Given the description of an element on the screen output the (x, y) to click on. 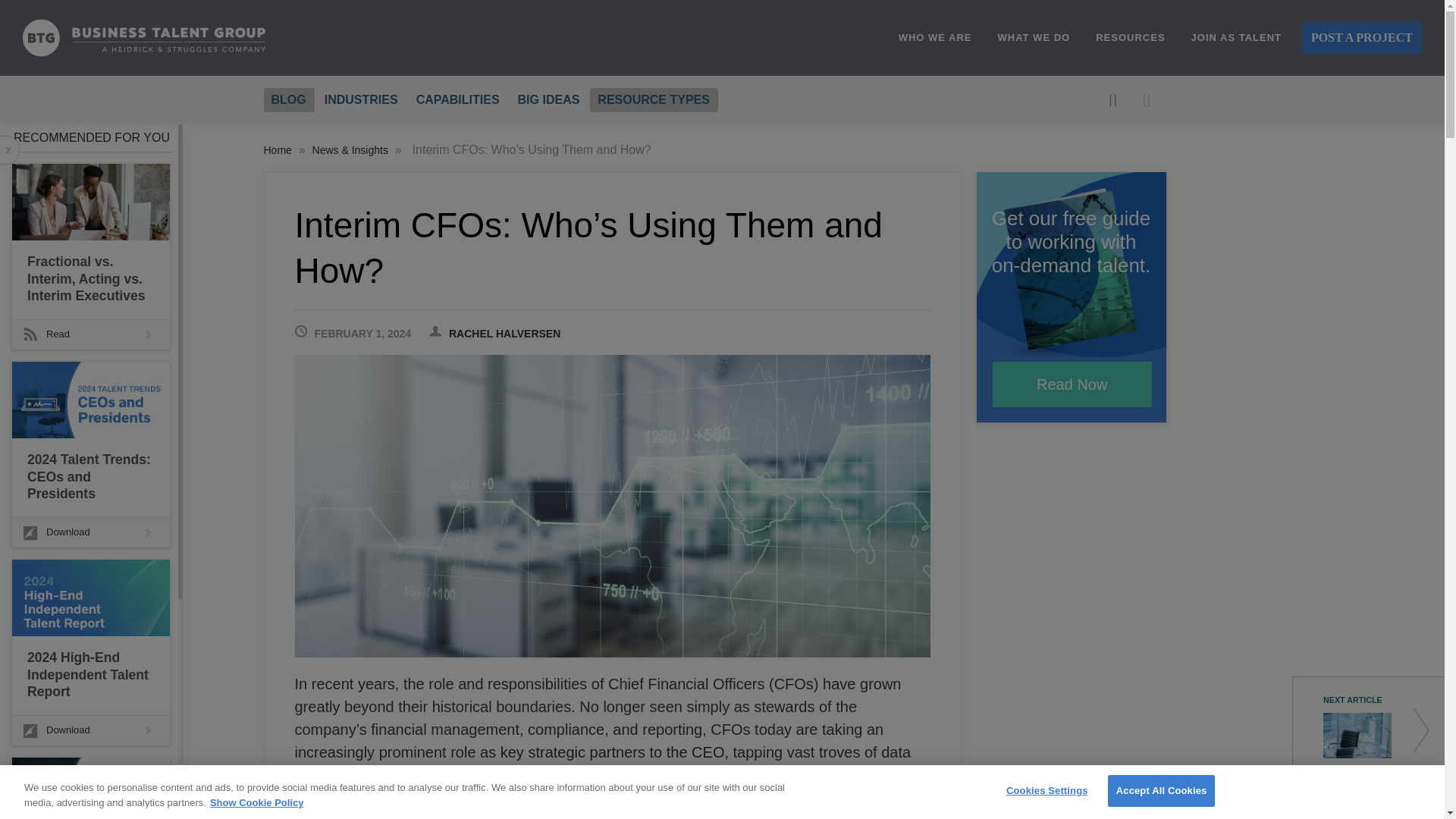
RESOURCES (1130, 38)
JOIN AS TALENT (1235, 38)
INDUSTRIES (361, 99)
BLOG (288, 99)
WHO WE ARE (935, 38)
POST A PROJECT (1361, 38)
WHAT WE DO (1034, 38)
